Given the description of an element on the screen output the (x, y) to click on. 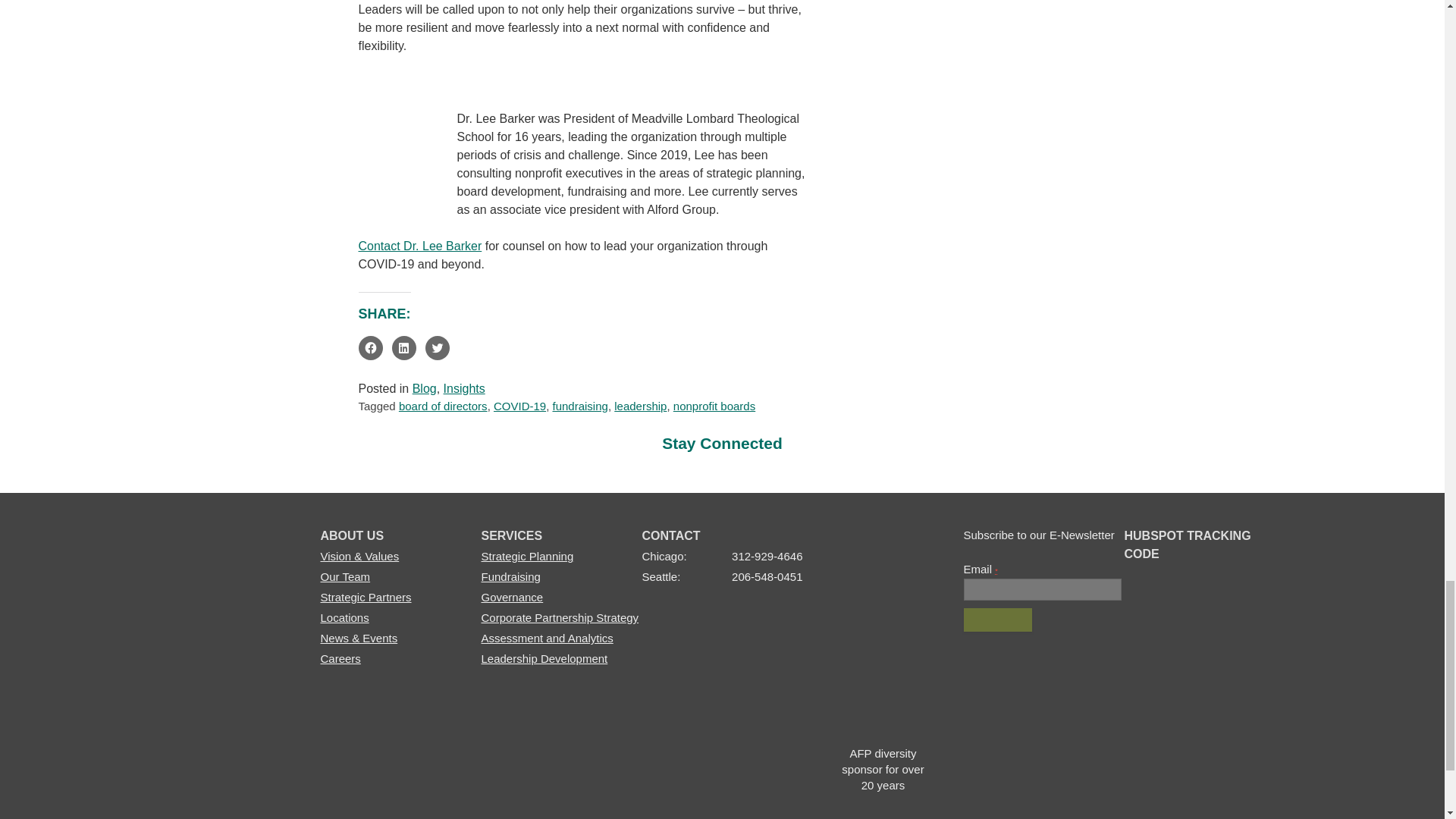
Contact Dr. Lee Barker (419, 245)
Click to share on Twitter (436, 347)
Click to share on LinkedIn (402, 347)
Click to share on Facebook (369, 347)
Sign up (997, 619)
